Given the description of an element on the screen output the (x, y) to click on. 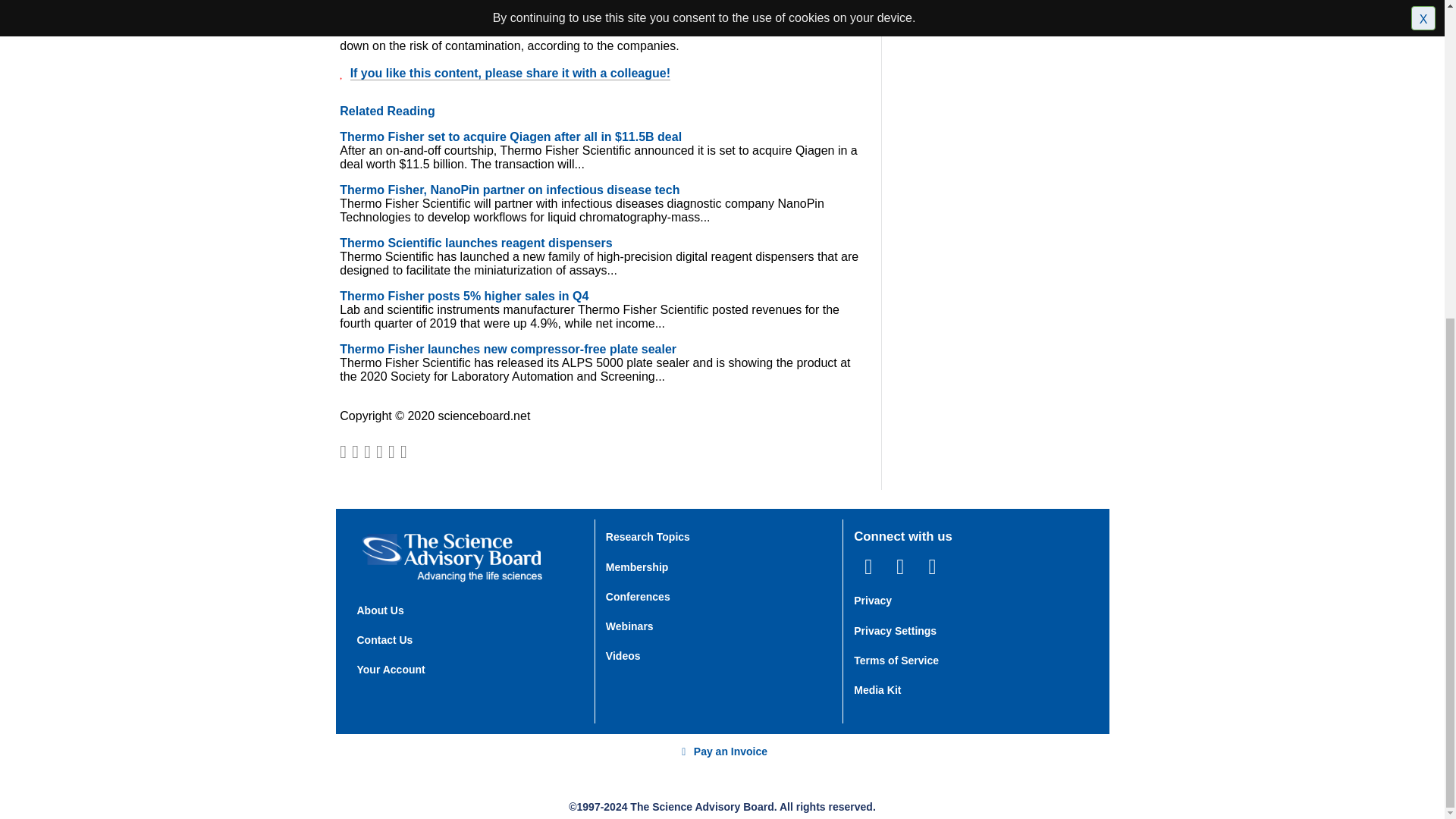
If you like this content, please share it with a colleague! (509, 73)
Thermo Fisher, NanoPin partner on infectious disease tech (509, 189)
Thermo Scientific launches reagent dispensers (475, 242)
